Given the description of an element on the screen output the (x, y) to click on. 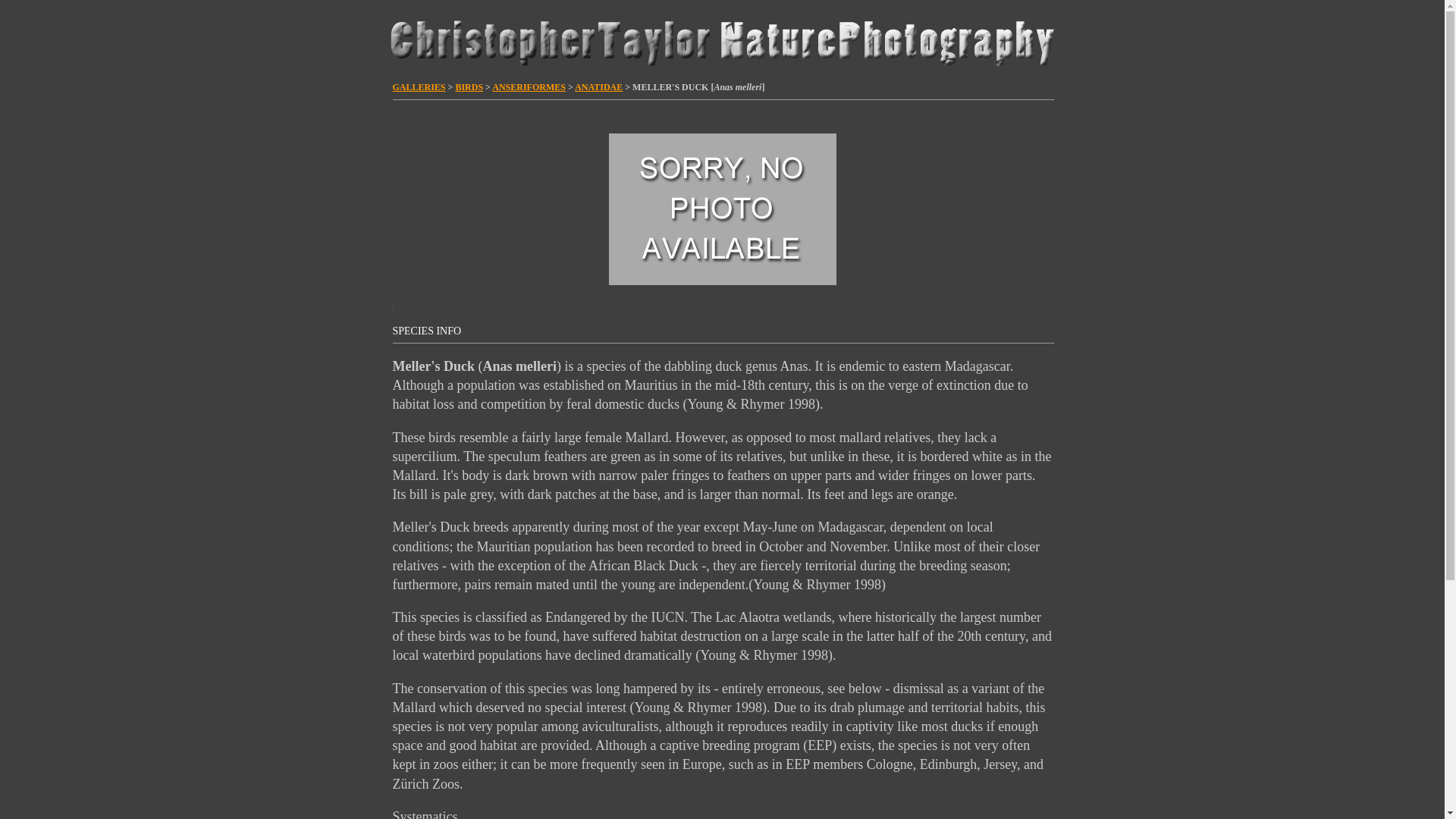
GALLERIES (419, 86)
ANATIDAE (599, 86)
BIRDS (468, 86)
Christopher Taylor Bird Nature Wildlife Mammal Photography (721, 40)
ANSERIFORMES (529, 86)
Meller's Duck Picture (721, 209)
